Given the description of an element on the screen output the (x, y) to click on. 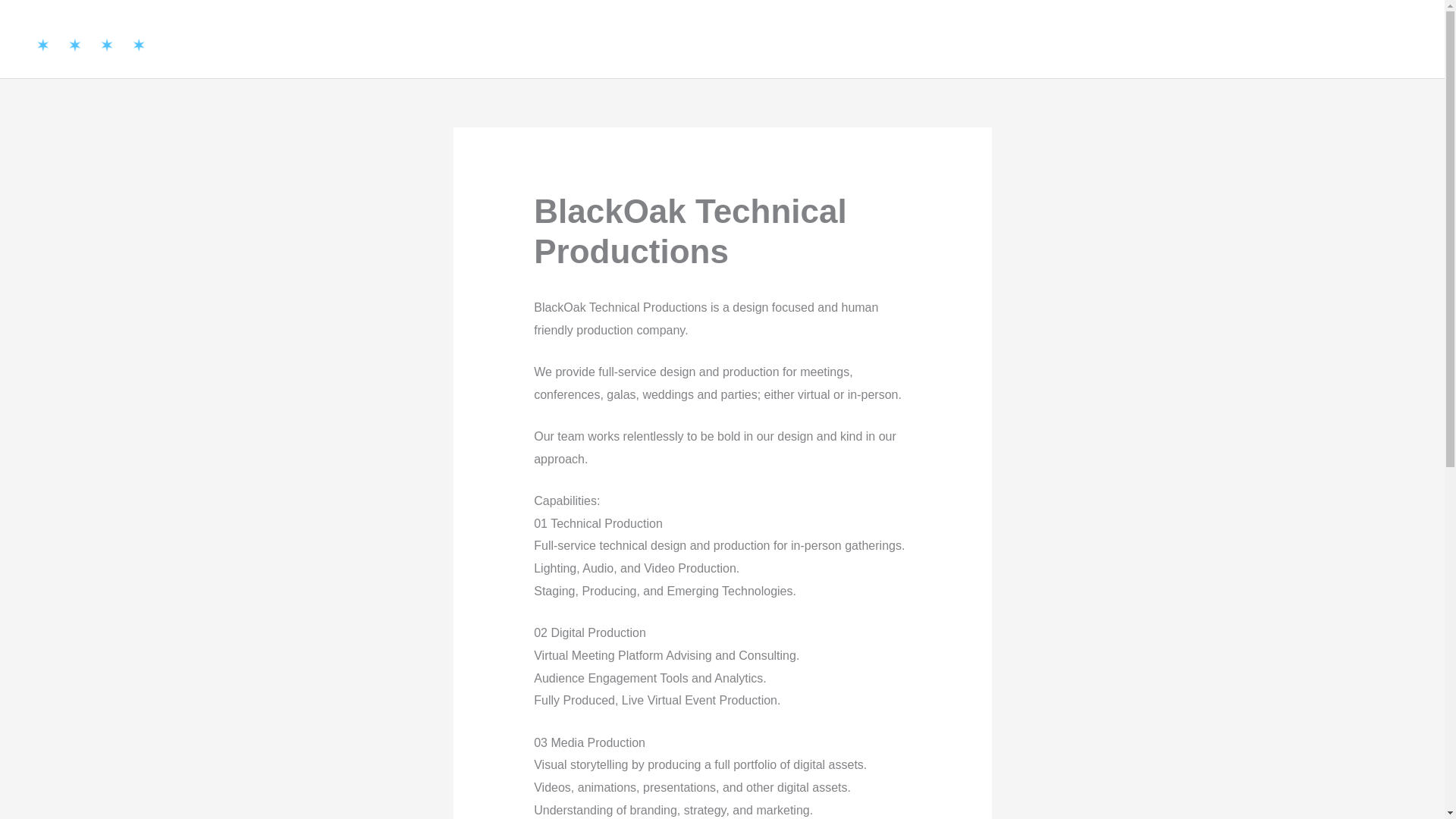
Venues (1126, 38)
FAQs (1403, 38)
News (1352, 38)
Get Involved (1206, 38)
Vendors (1055, 38)
Events (1293, 38)
